Given the description of an element on the screen output the (x, y) to click on. 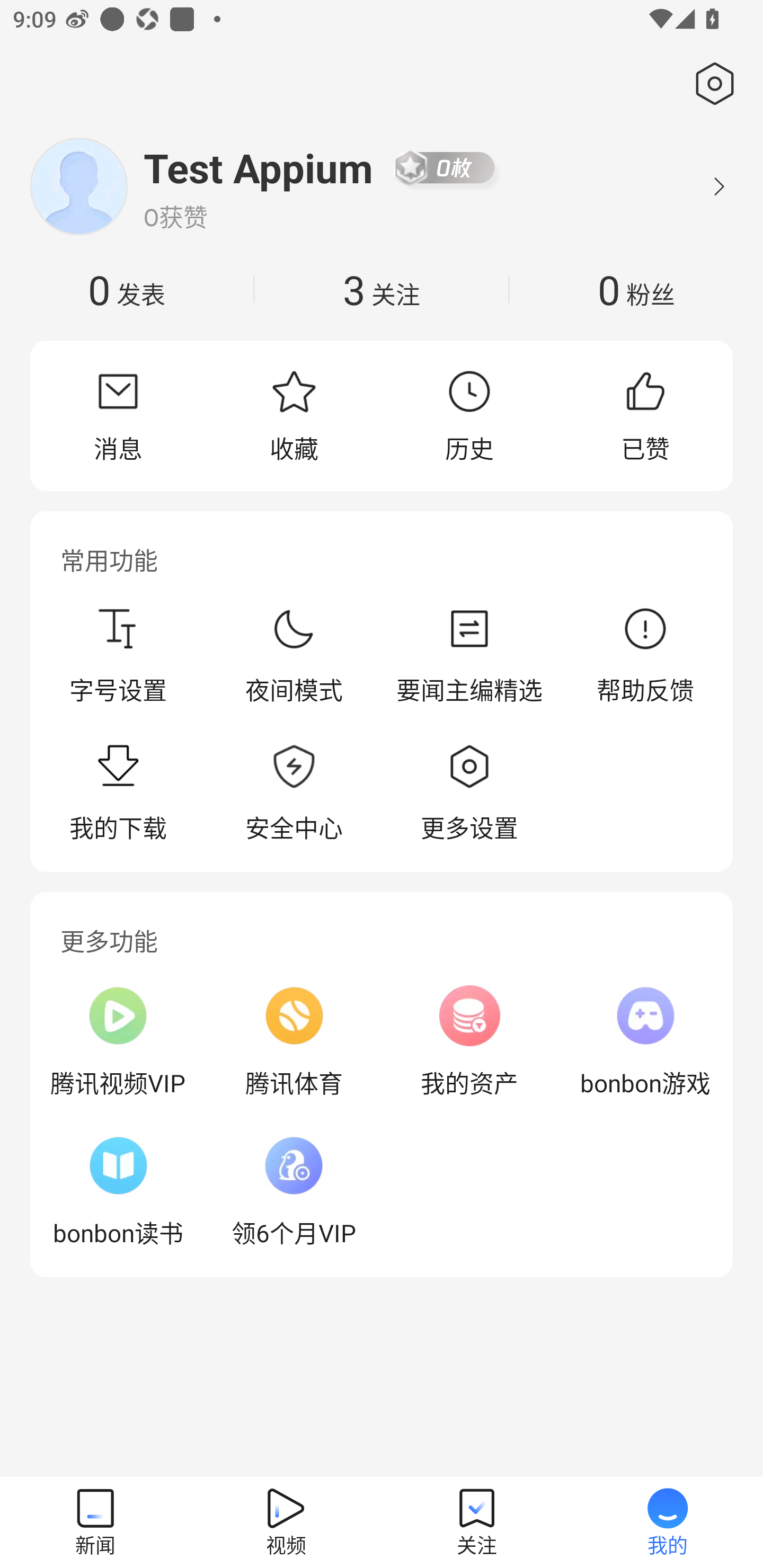
设置，可点击 (711, 83)
头像，可点击 (78, 186)
用户：Test Appium，可点击 (258, 167)
0枚勋章，可点击 (444, 167)
0发表，可点击 (126, 288)
3关注，可点击 (381, 288)
0粉丝，可点击 (636, 288)
消息，可点击 (118, 415)
收藏，可点击 (293, 415)
历史，可点击 (469, 415)
已赞，可点击 (644, 415)
字号设置，可点击 (118, 655)
夜间模式，可点击 (293, 655)
要闻主编精选，可点击 (469, 655)
帮助反馈，可点击 (644, 655)
我的下载，可点击 (118, 793)
安全中心，可点击 (293, 793)
更多设置，可点击 (469, 793)
腾讯视频VIP，可点击 (118, 1041)
腾讯体育，可点击 (293, 1041)
我的资产，可点击 (469, 1041)
bonbon游戏，可点击 (644, 1041)
bonbon读书，可点击 (118, 1191)
领6个月VIP，可点击 (293, 1191)
